Given the description of an element on the screen output the (x, y) to click on. 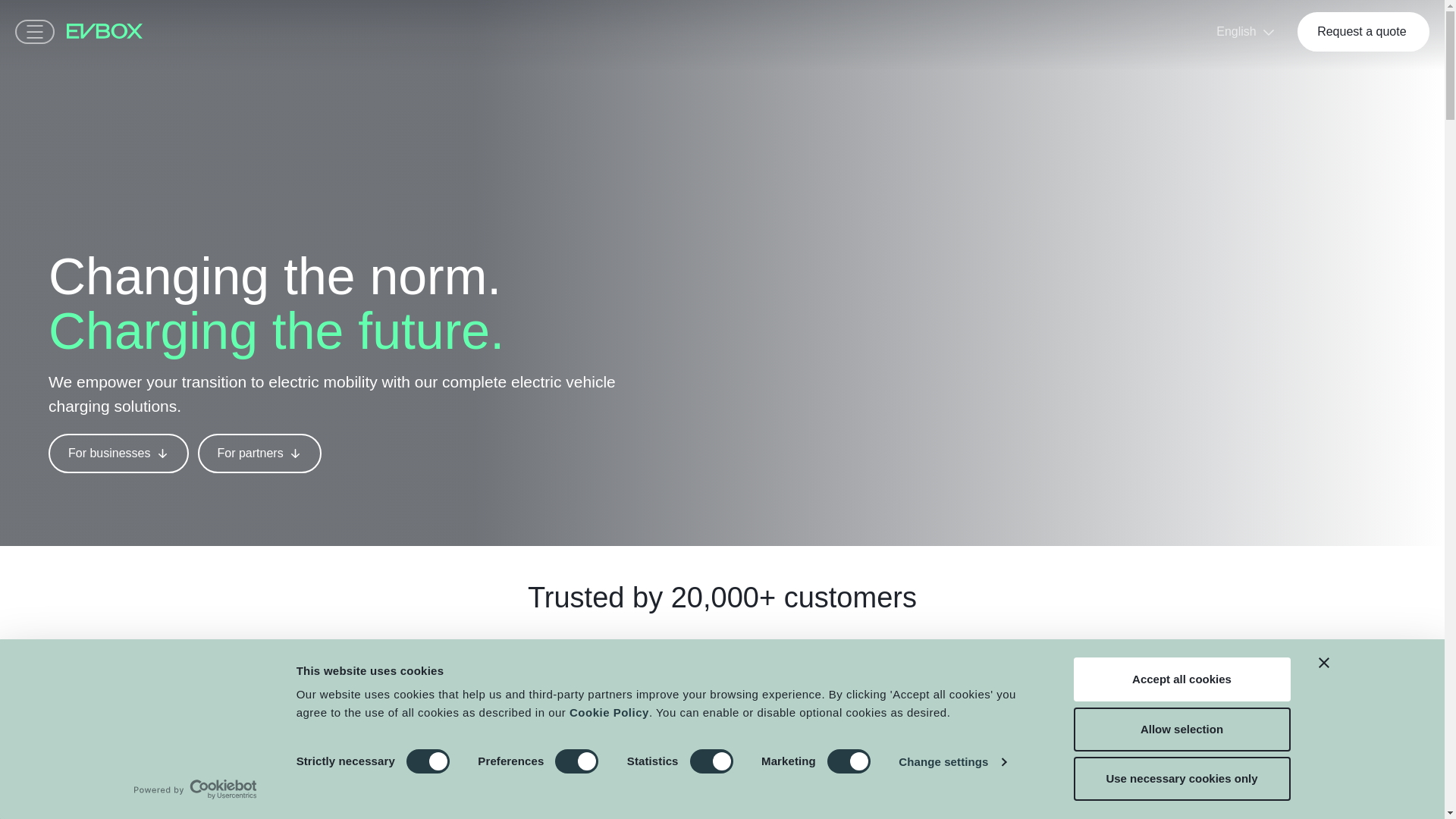
Cookie Policy (609, 712)
Change settings (952, 762)
